Given the description of an element on the screen output the (x, y) to click on. 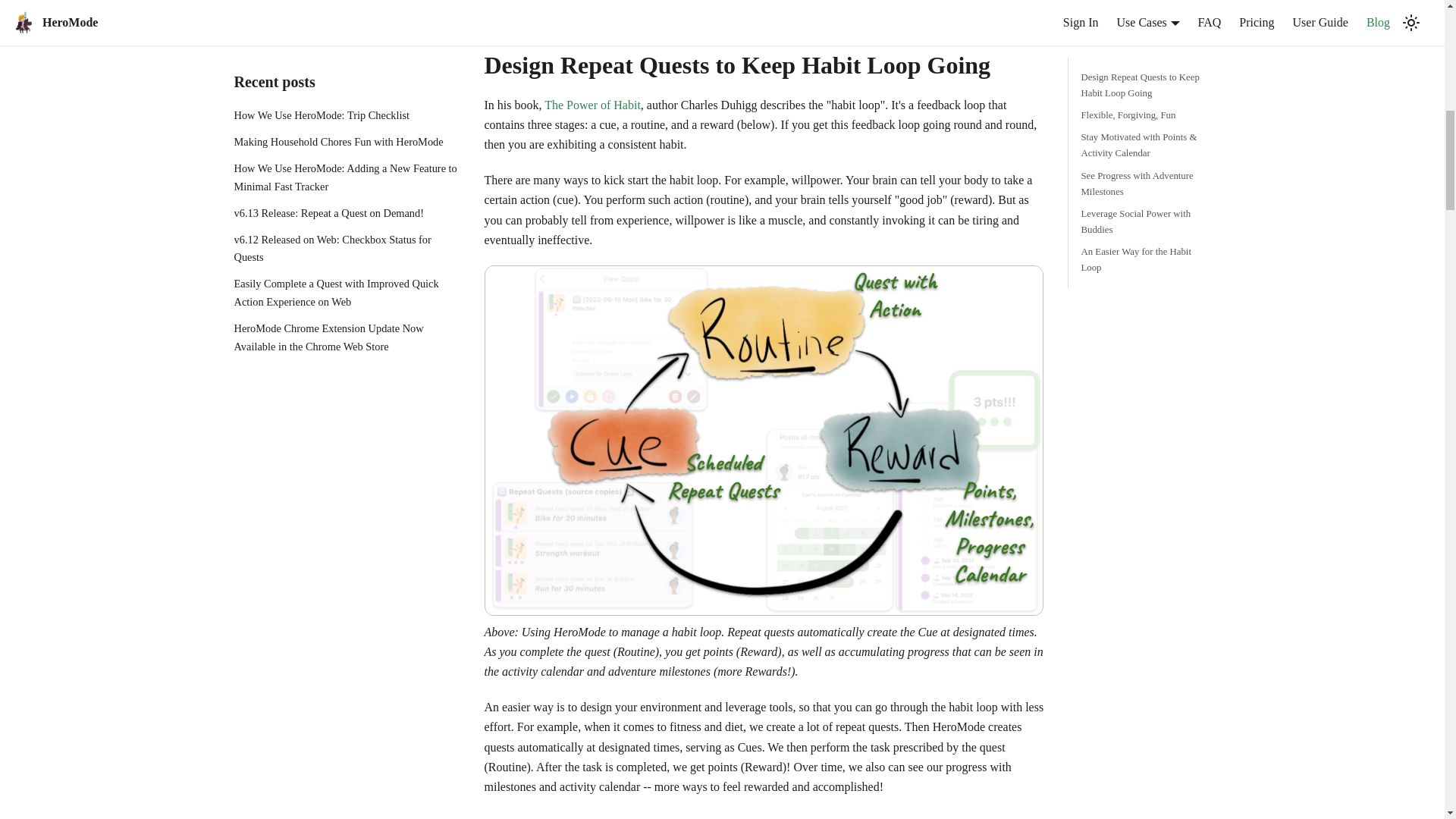
The Power of Habit (592, 104)
